Given the description of an element on the screen output the (x, y) to click on. 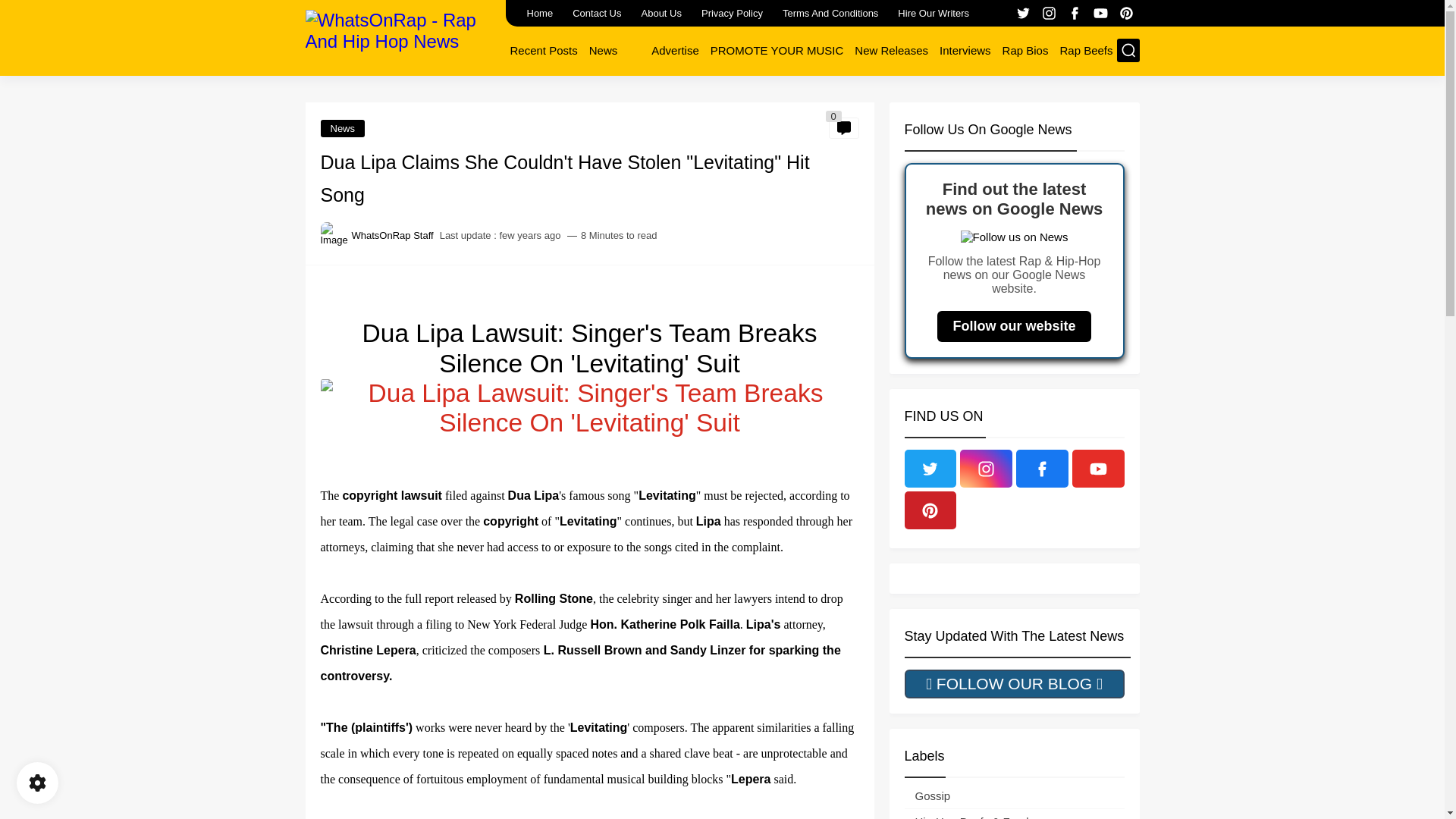
0 (843, 127)
News (603, 50)
About Us (660, 12)
PROMOTE YOUR MUSIC (777, 50)
Terms And Conditions (829, 12)
Advertise (674, 50)
Recent Posts (542, 50)
WhatsOnRap - Rap And Hip Hop News (399, 36)
News (603, 50)
News (342, 128)
Recent Posts (542, 50)
Interviews (965, 50)
Advertise (674, 50)
Rap Bios (1025, 50)
New Releases (891, 50)
